Given the description of an element on the screen output the (x, y) to click on. 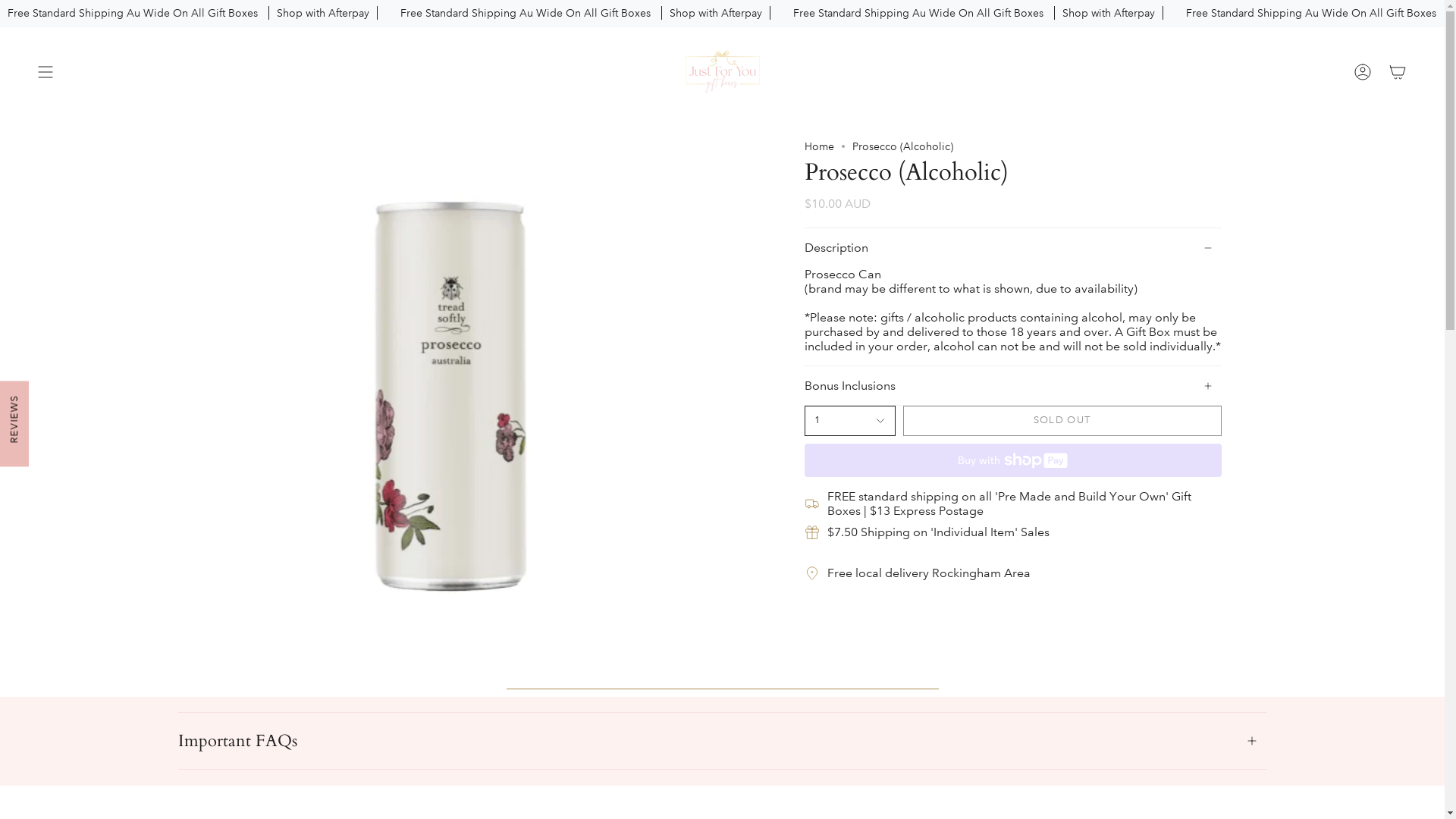
SOLD OUT Element type: text (1061, 420)
Account Element type: text (1362, 71)
Cart Element type: text (1397, 71)
1 Element type: text (848, 420)
Home Element type: text (818, 146)
